Given the description of an element on the screen output the (x, y) to click on. 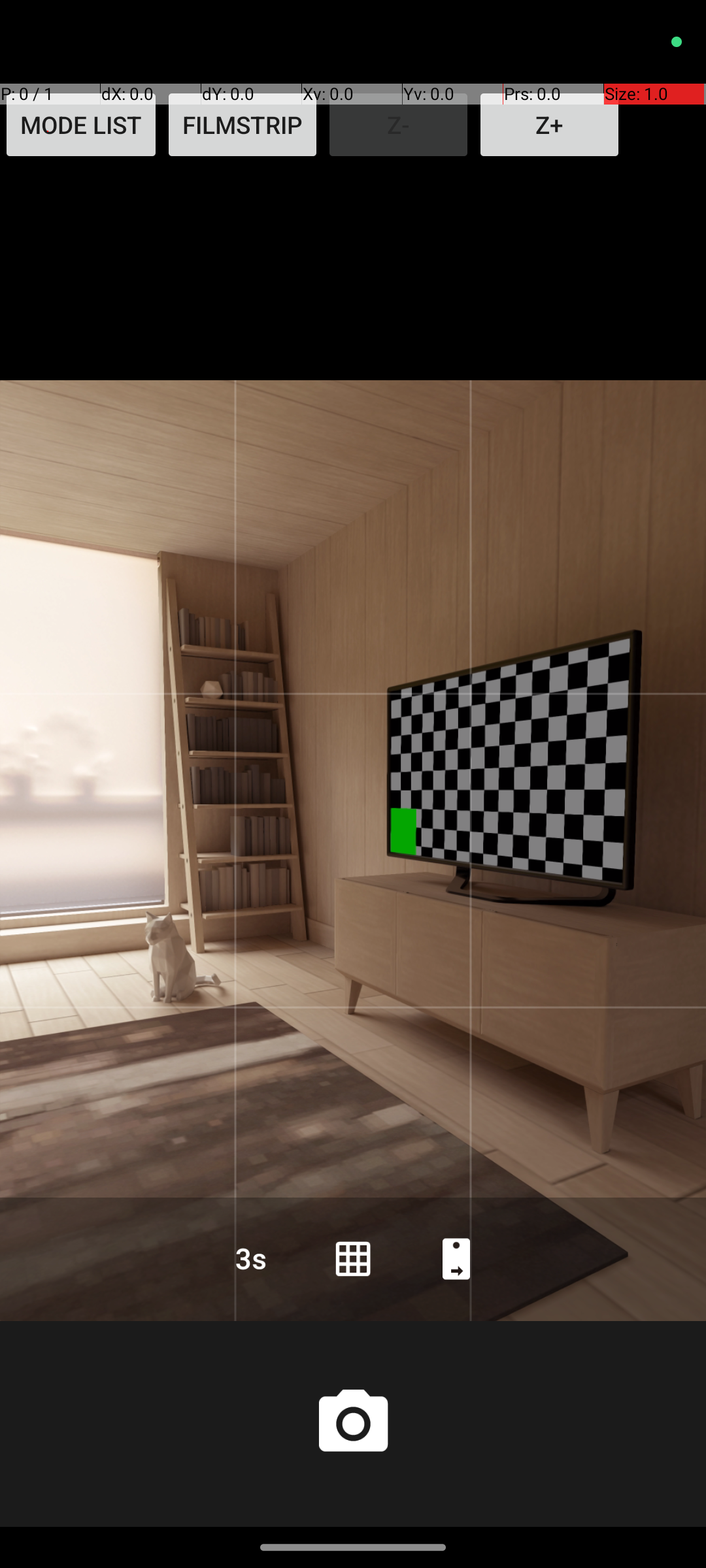
Countdown timer duration is set to 3 seconds Element type: android.widget.ImageButton (249, 1258)
Grid lines on Element type: android.widget.ImageButton (352, 1258)
Back camera Element type: android.widget.ImageButton (456, 1258)
